Given the description of an element on the screen output the (x, y) to click on. 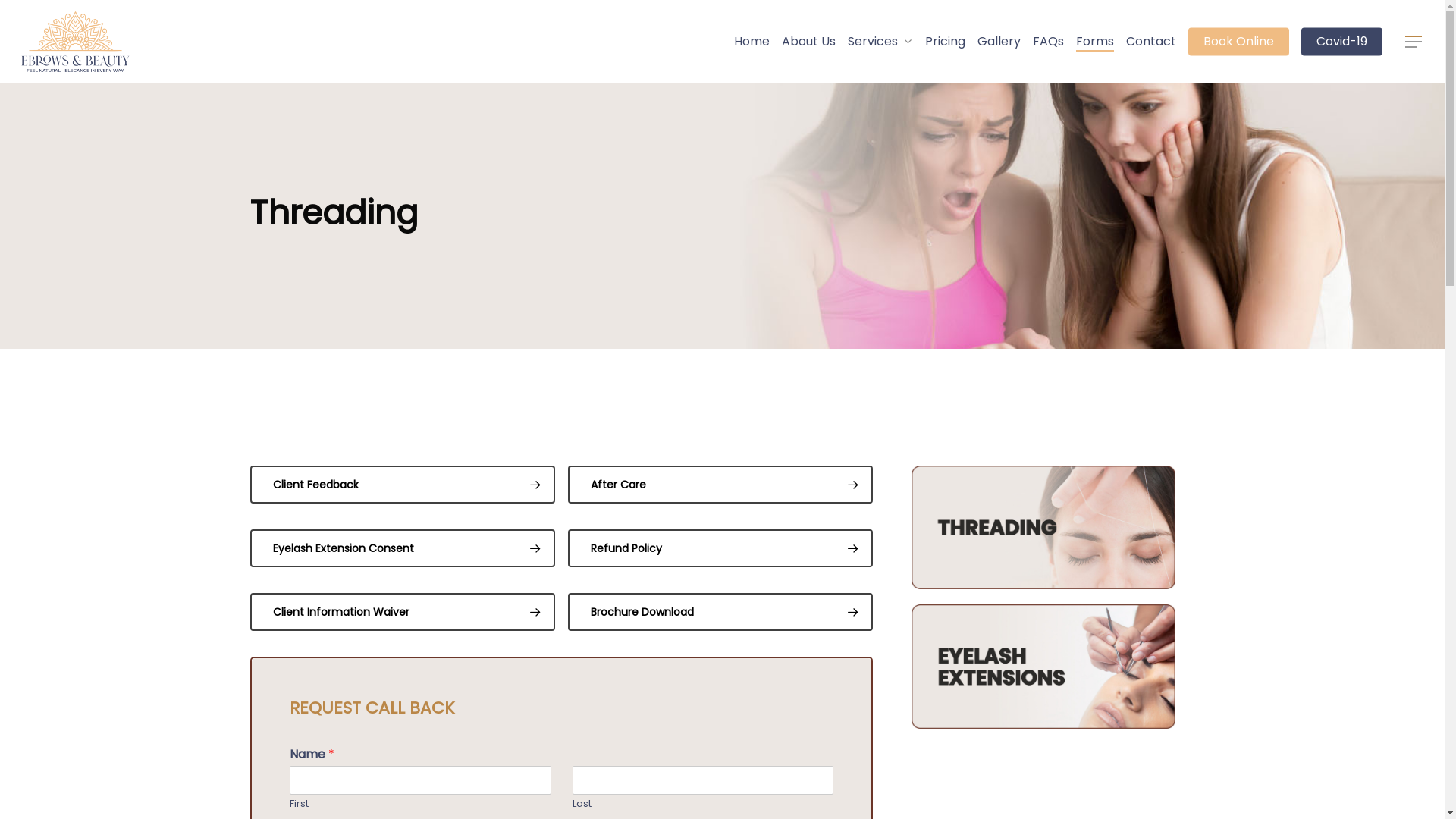
Forms Element type: text (1094, 41)
After Care Element type: text (719, 484)
Pricing Element type: text (945, 41)
Refund Policy Element type: text (719, 548)
Contact Element type: text (1151, 41)
Covid-19 Element type: text (1341, 41)
Client Information Waiver Element type: text (402, 611)
Book Online Element type: text (1238, 41)
Gallery Element type: text (998, 41)
Client Feedback Element type: text (402, 484)
Eyelash Extension Consent Element type: text (402, 548)
Services Element type: text (880, 41)
FAQs Element type: text (1047, 41)
About Us Element type: text (808, 41)
Home Element type: text (751, 41)
Brochure Download Element type: text (719, 611)
